Given the description of an element on the screen output the (x, y) to click on. 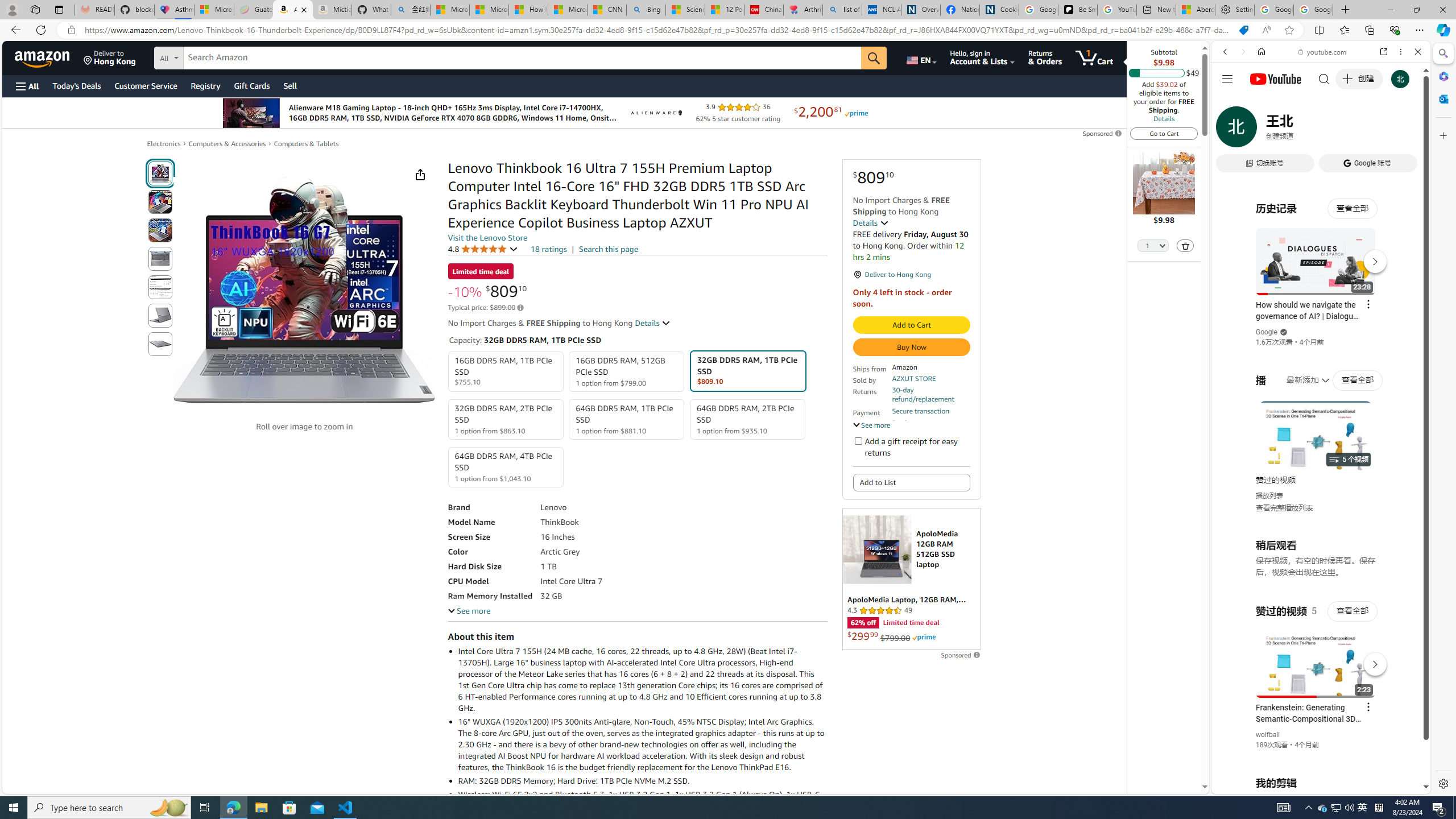
Science - MSN (685, 9)
Search in (210, 56)
Add to List (911, 482)
Close Customize pane (1442, 135)
Class: b_serphb (1404, 130)
Prime (923, 637)
Home (1261, 51)
Add this page to favorites (Ctrl+D) (1289, 29)
Search (1442, 53)
Computers & Tablets (306, 143)
